Given the description of an element on the screen output the (x, y) to click on. 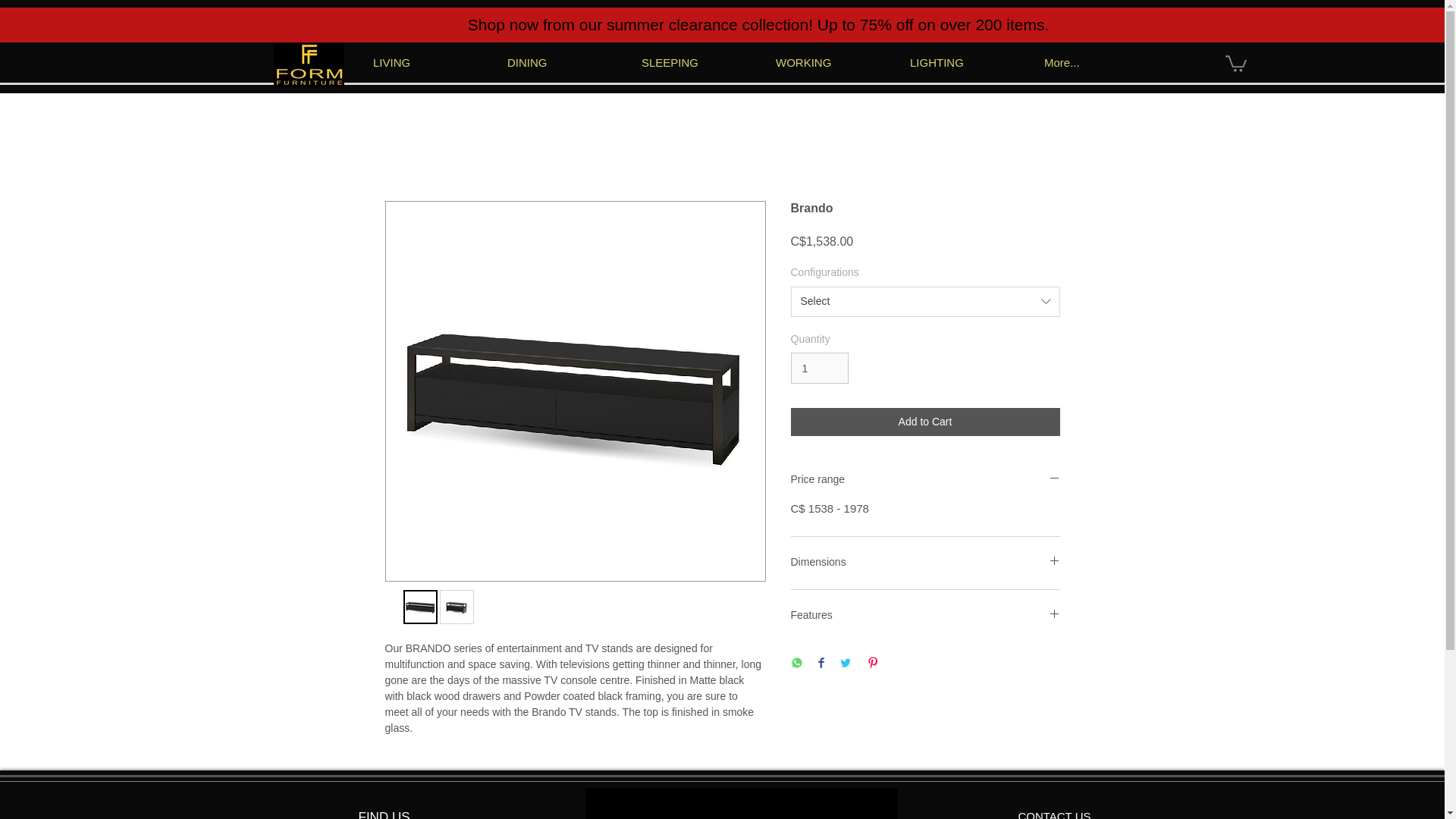
LIVING (432, 62)
SLEEPING (700, 62)
LIGHTING (969, 62)
FormFurniturelogo2.jpeg (308, 64)
WORKING (835, 62)
DINING (566, 62)
1 (818, 368)
